Given the description of an element on the screen output the (x, y) to click on. 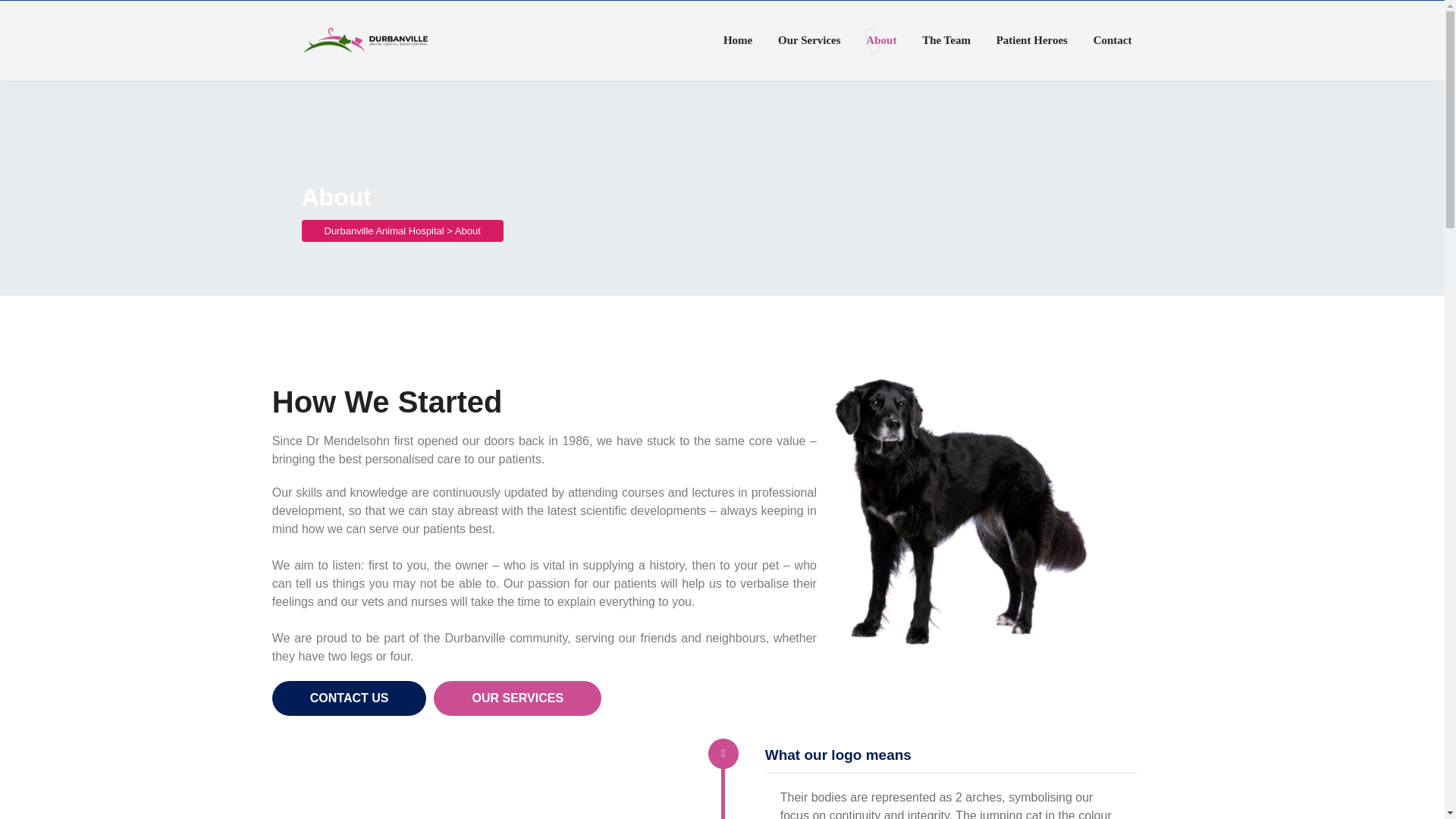
Durbanville Animal Hospital (384, 230)
About (881, 40)
The Team (946, 40)
Go to Durbanville Animal Hospital. (384, 230)
CONTACT US (349, 697)
Patient Heroes (1031, 40)
What our logo means (838, 754)
OUR SERVICES (517, 697)
Home (737, 40)
Contact (1112, 40)
Our Services (809, 40)
